Given the description of an element on the screen output the (x, y) to click on. 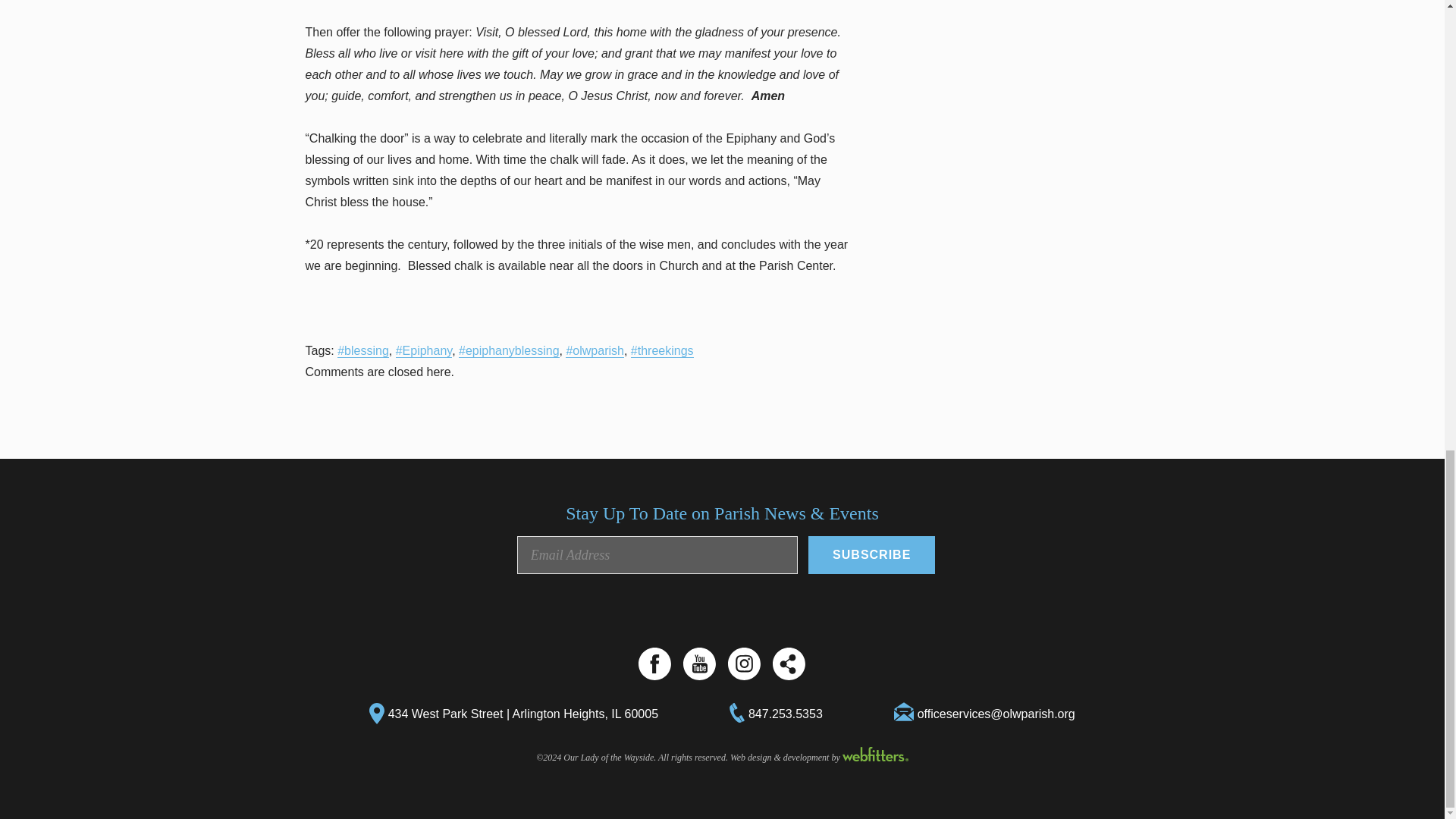
Subscribe (871, 555)
